Given the description of an element on the screen output the (x, y) to click on. 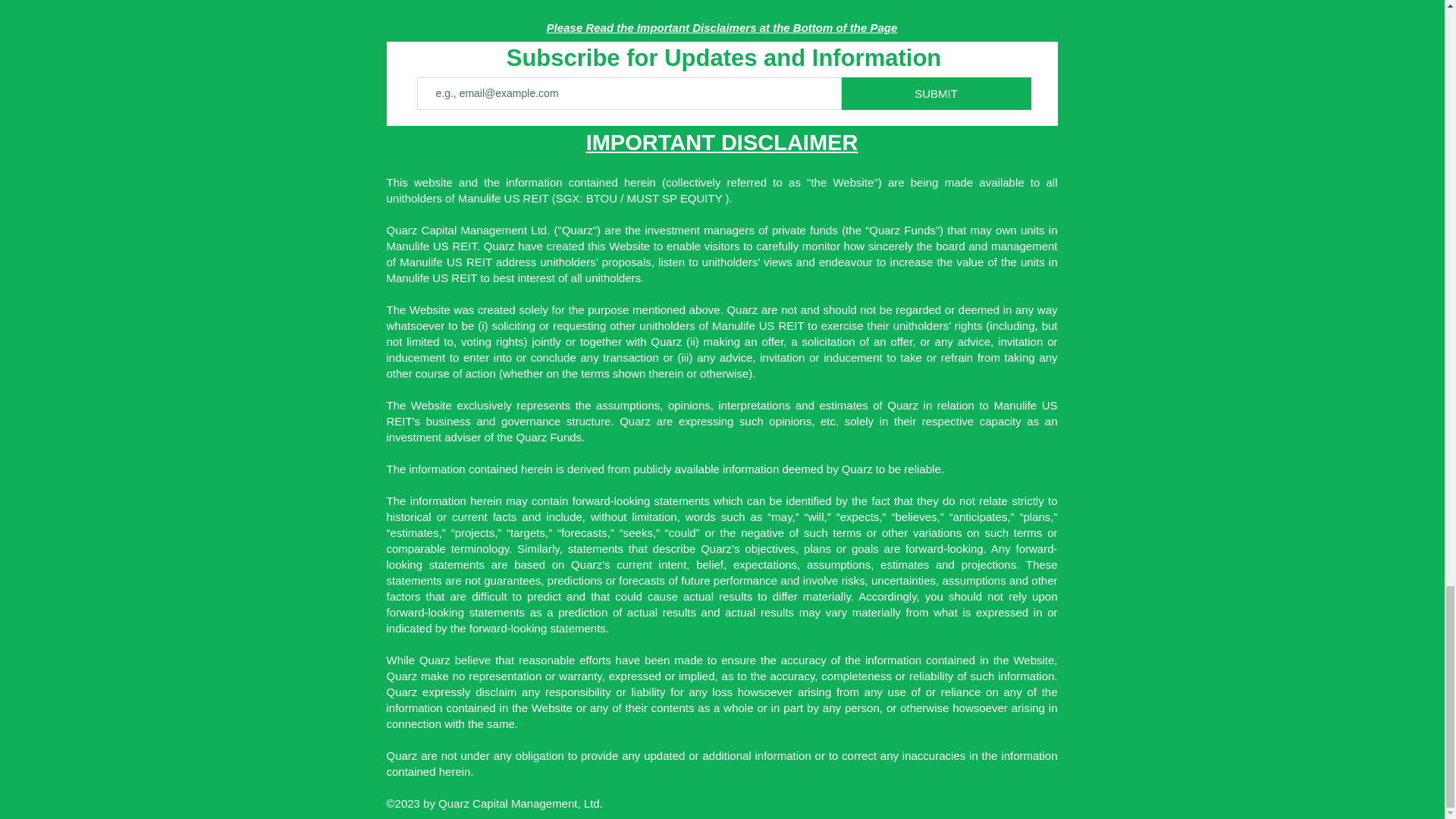
SUBMIT (934, 42)
